Given the description of an element on the screen output the (x, y) to click on. 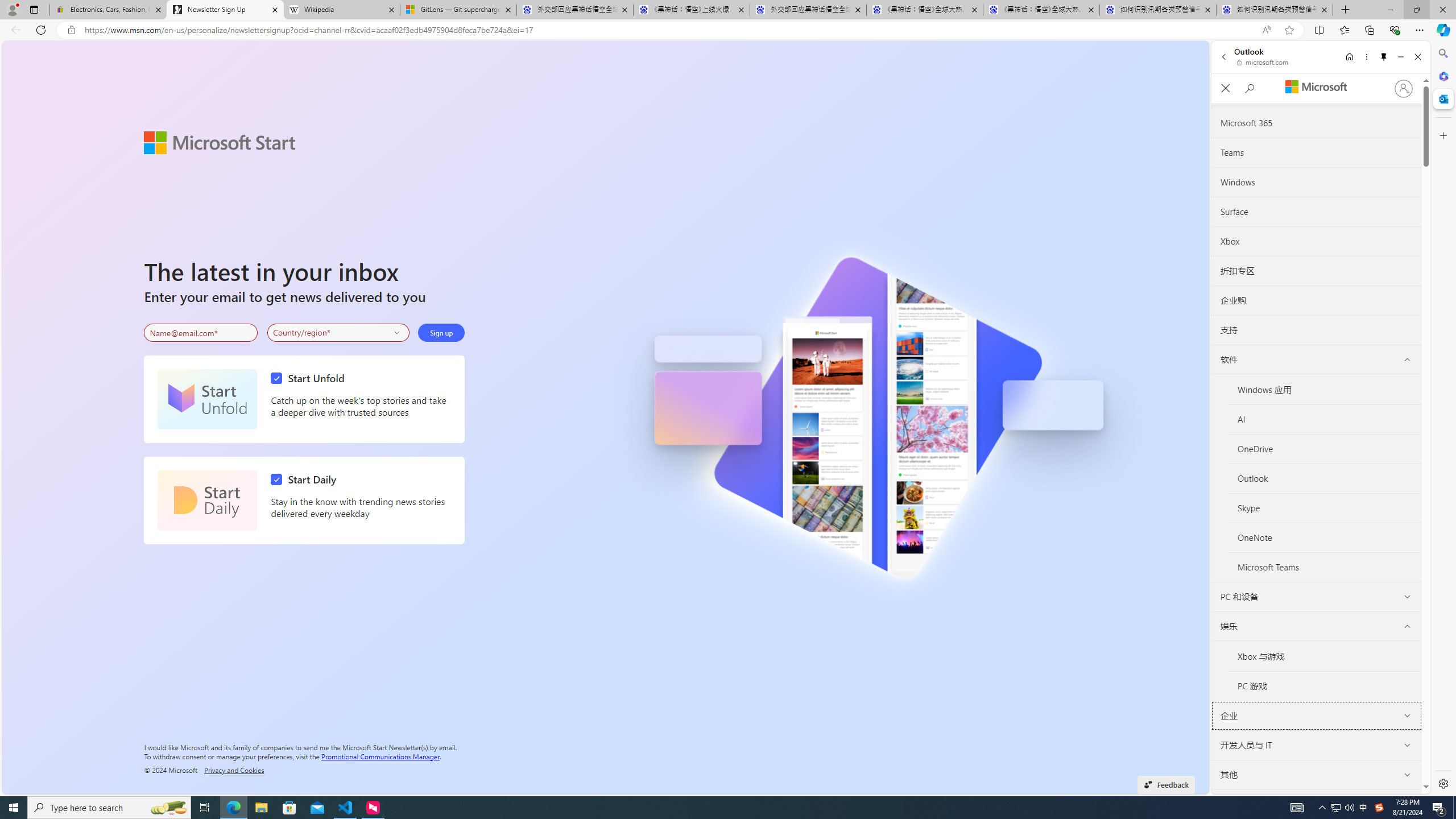
AI (1325, 419)
Windows (1316, 182)
Sign up (441, 332)
Enter your email (200, 332)
OneDrive (1324, 448)
